Given the description of an element on the screen output the (x, y) to click on. 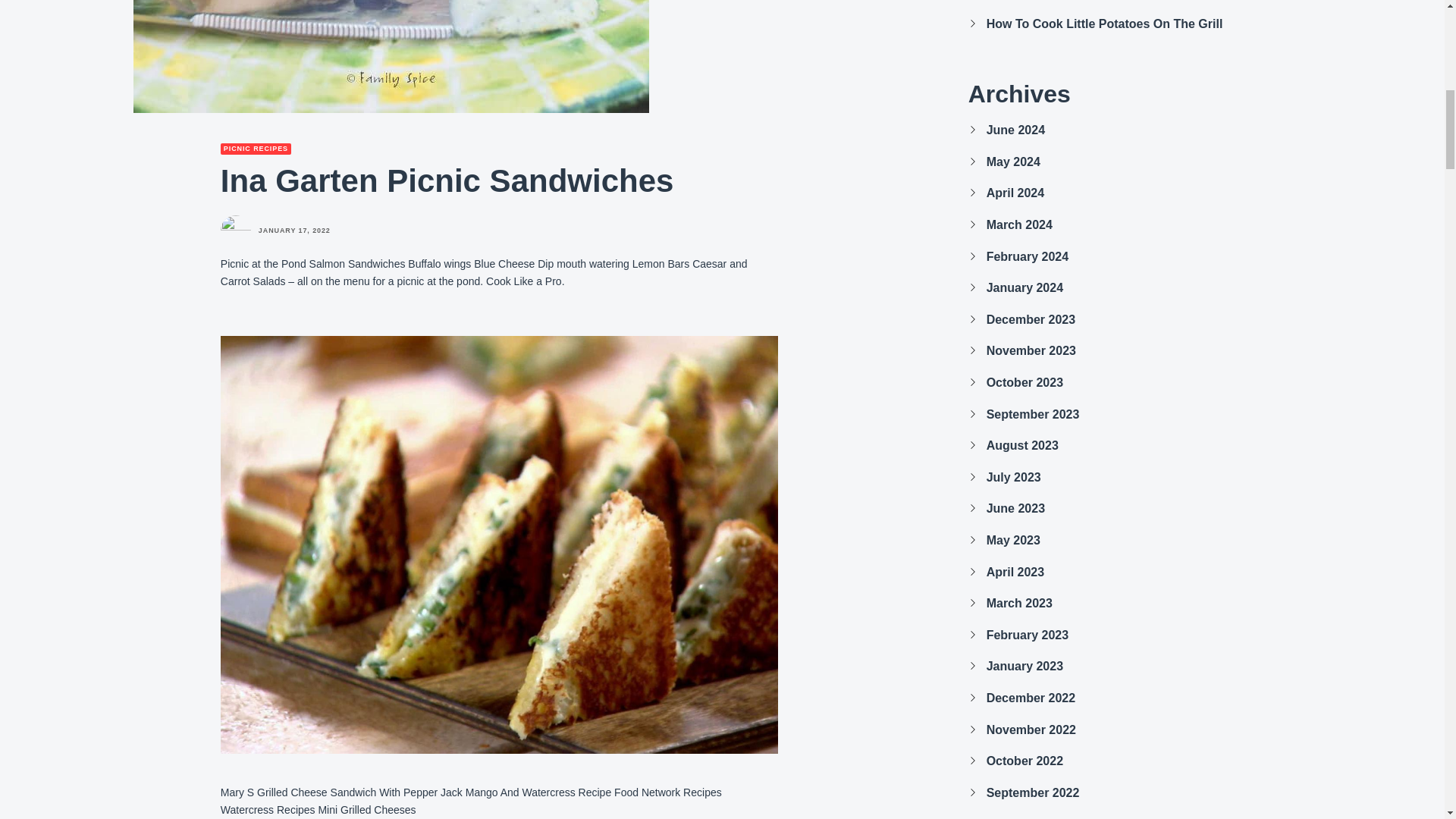
PICNIC RECIPES (256, 148)
JANUARY 17, 2022 (294, 230)
Ina Garten Picnic Sandwiches (391, 56)
